Given the description of an element on the screen output the (x, y) to click on. 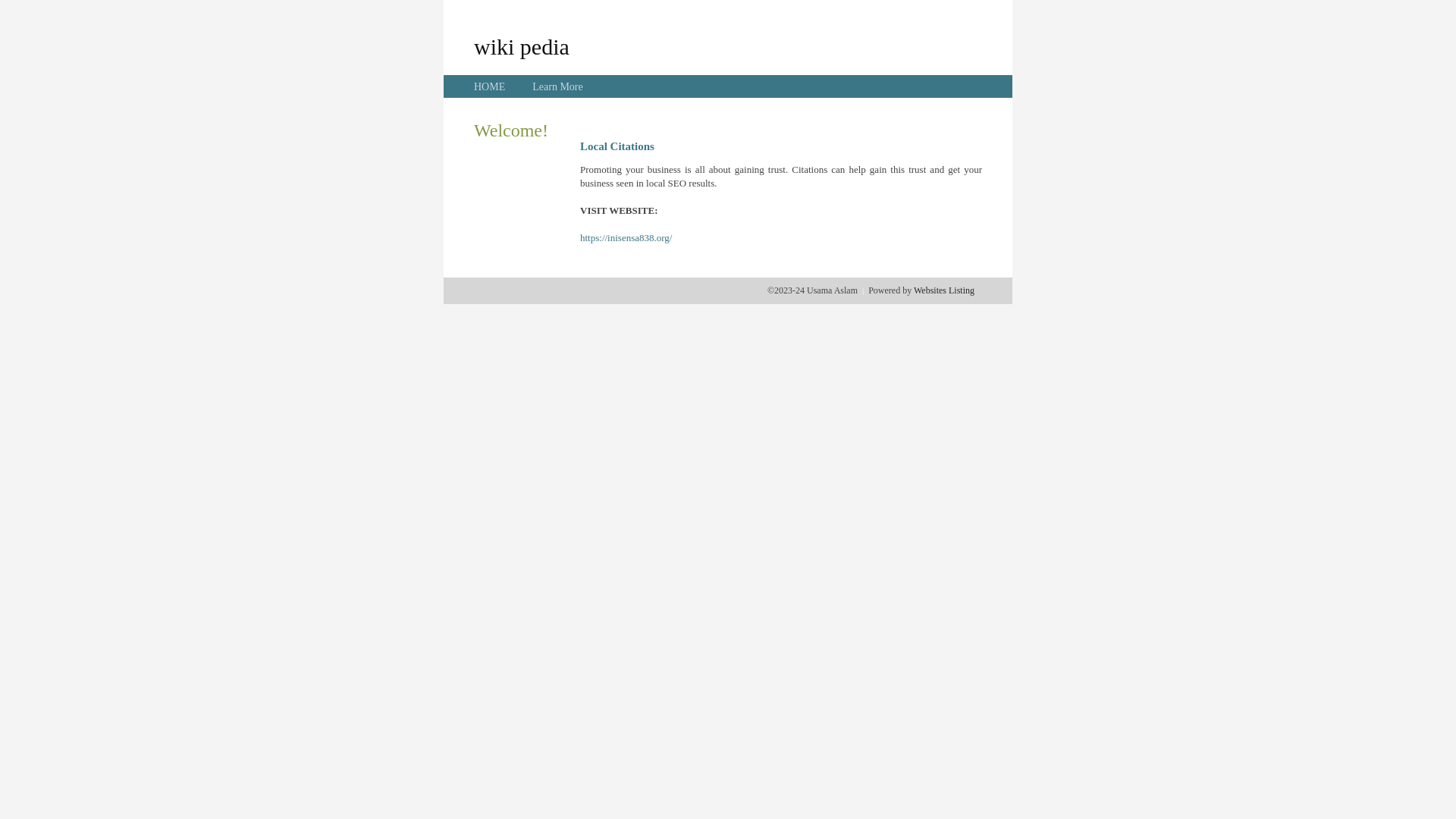
Websites Listing Element type: text (943, 290)
HOME Element type: text (489, 86)
Learn More Element type: text (557, 86)
https://inisensa838.org/ Element type: text (625, 237)
wiki pedia Element type: text (521, 46)
